Given the description of an element on the screen output the (x, y) to click on. 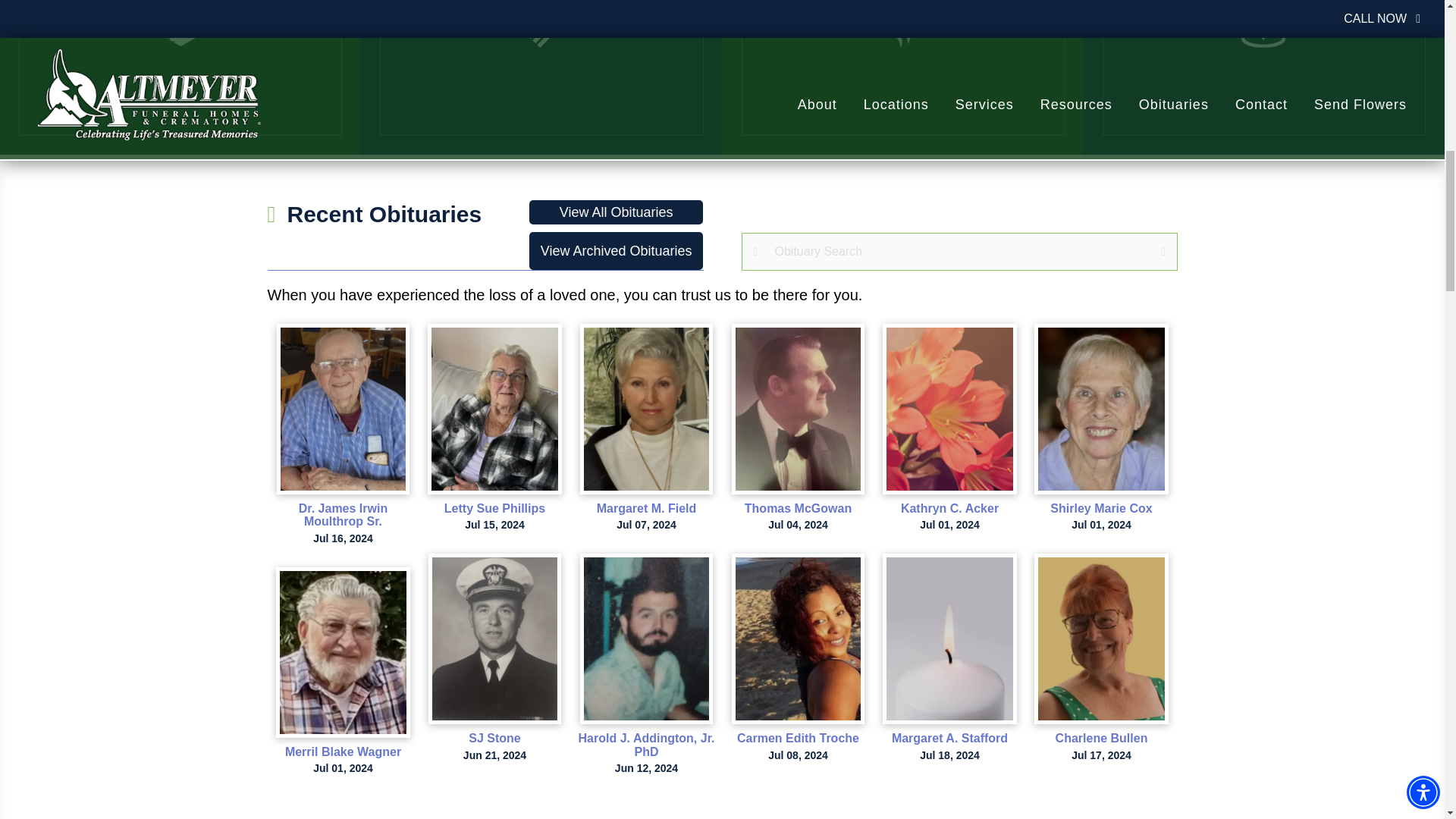
Stylized rose icon (902, 23)
American flag icon (541, 23)
View All Obituaries (616, 211)
Location marker icon (1263, 23)
View Archived Obituaries (616, 250)
Dove icon (180, 23)
